Given the description of an element on the screen output the (x, y) to click on. 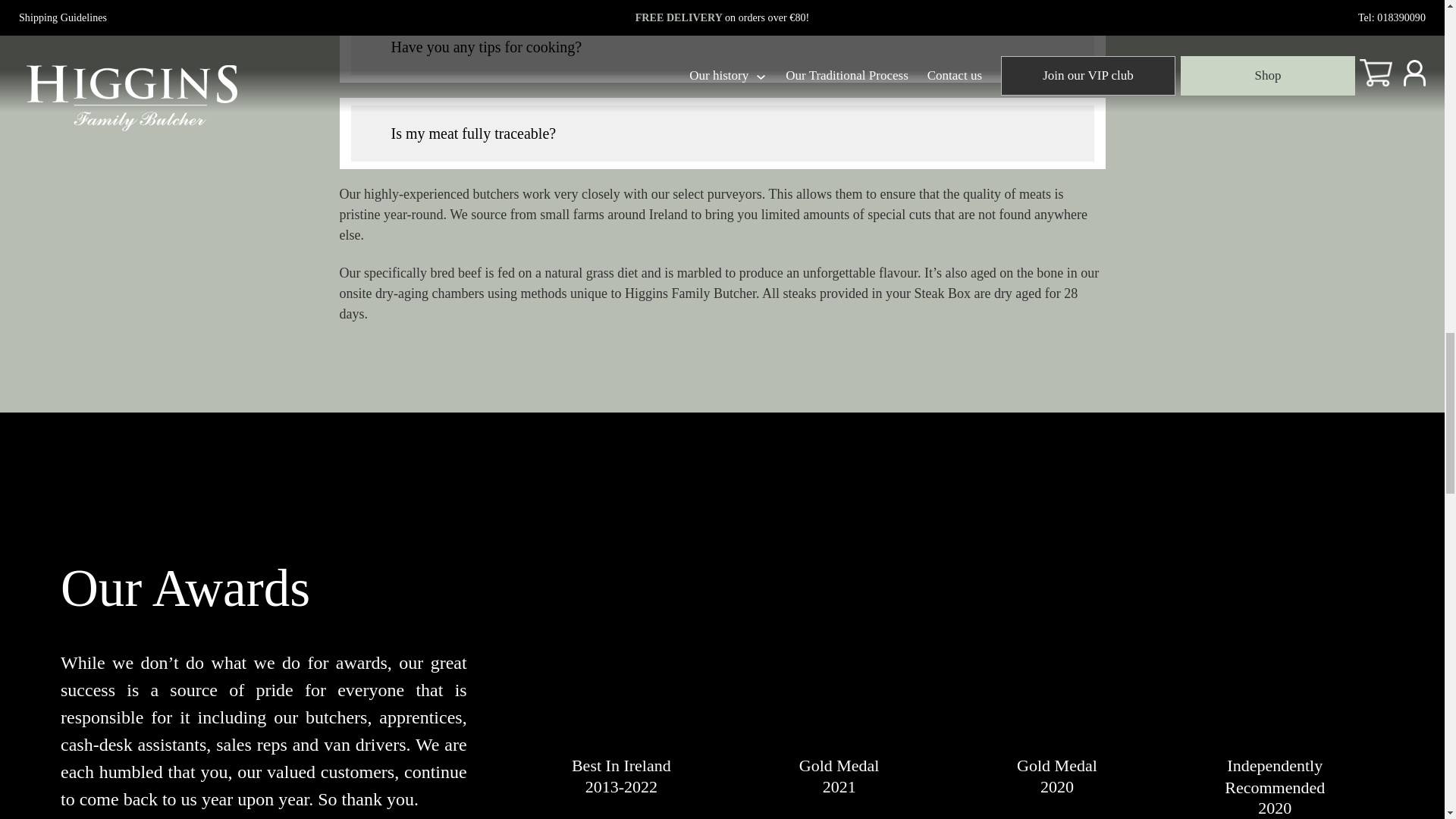
Is my meat fully traceable? (721, 133)
Have you any tips for cooking? (721, 46)
